Given the description of an element on the screen output the (x, y) to click on. 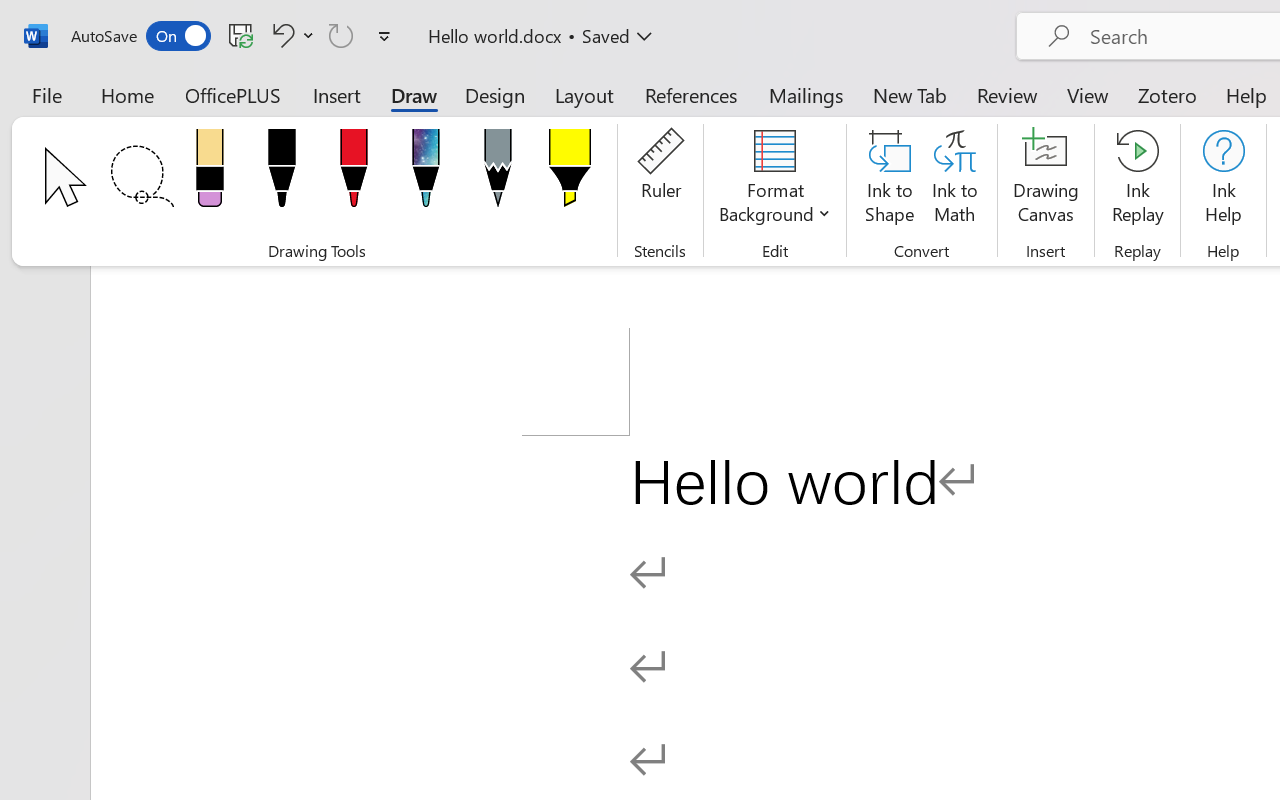
Zotero (1166, 94)
AutoSave (140, 35)
Pencil: Gray, 1 mm (497, 173)
Review (1007, 94)
Save (241, 35)
New Tab (909, 94)
Format Background (774, 179)
Design (495, 94)
Undo Click and Type Formatting (290, 35)
